Given the description of an element on the screen output the (x, y) to click on. 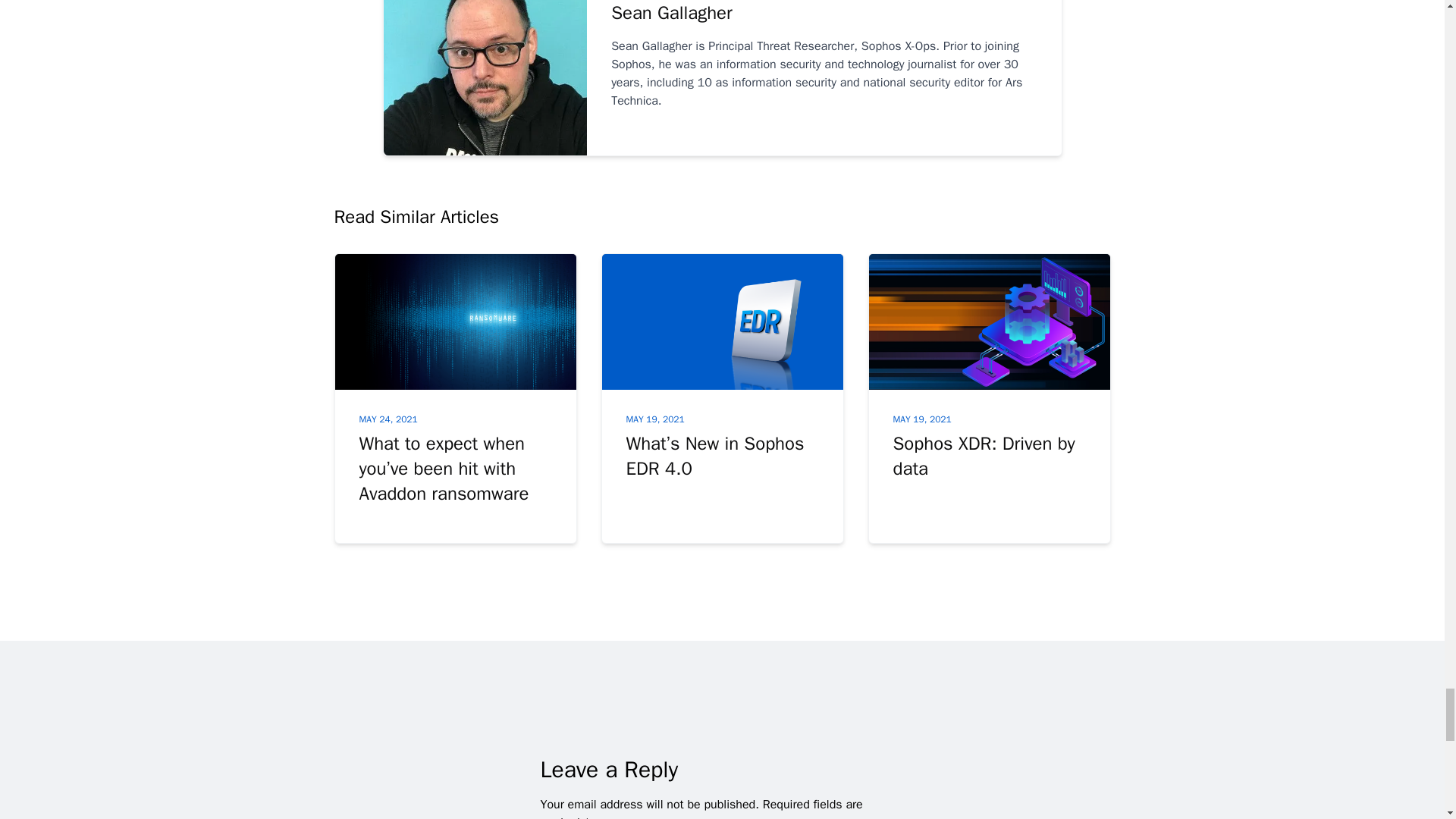
Posts by Sean Gallagher (823, 12)
